Given the description of an element on the screen output the (x, y) to click on. 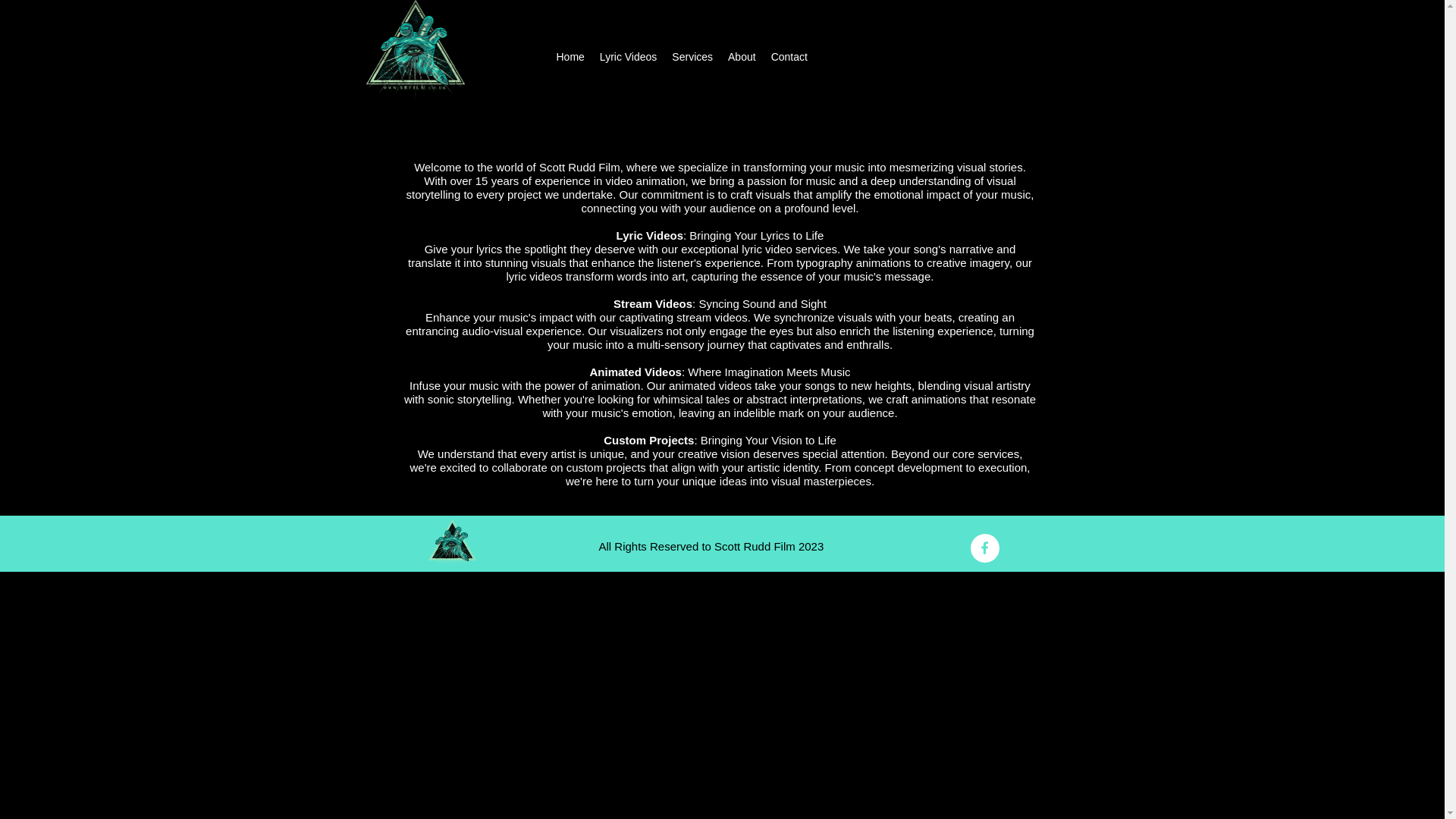
Home (570, 56)
Lyric Videos (627, 56)
Contact (788, 56)
Services (691, 56)
About (741, 56)
